Given the description of an element on the screen output the (x, y) to click on. 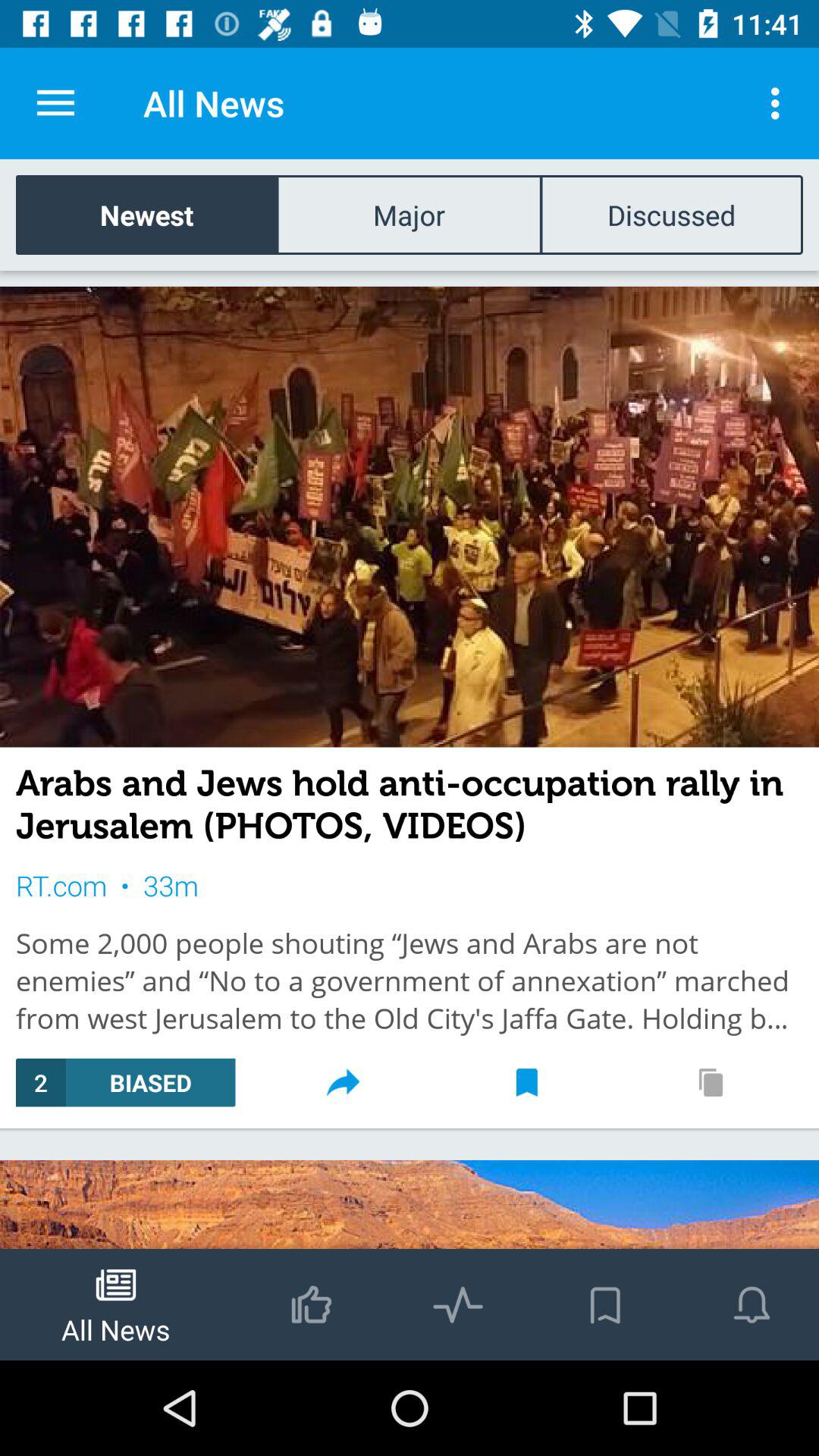
select discussed icon (671, 214)
